Given the description of an element on the screen output the (x, y) to click on. 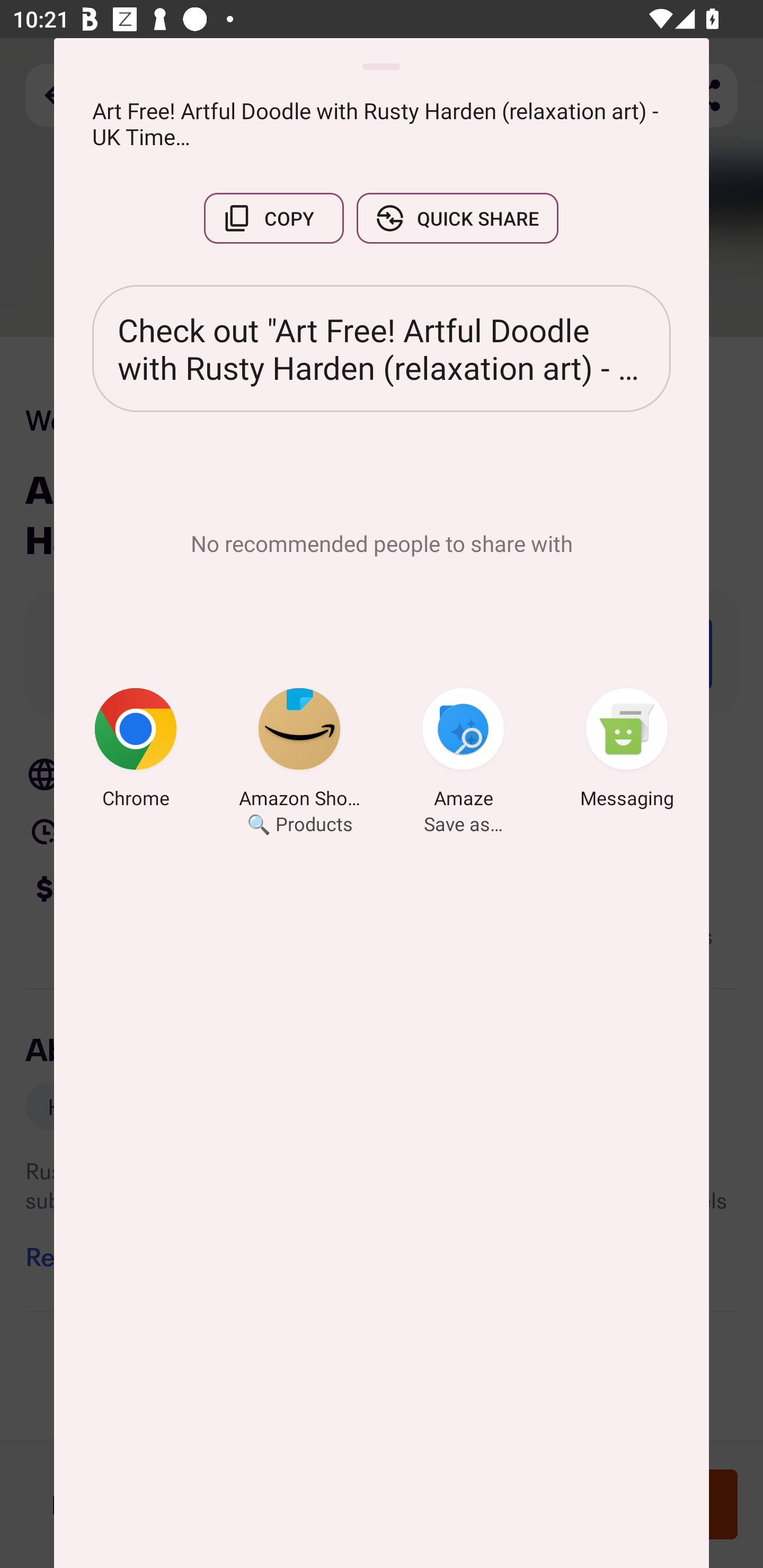
COPY (273, 218)
QUICK SHARE (457, 218)
Chrome (135, 751)
Amazon Shopping 🔍 Products (299, 751)
Amaze Save as… (463, 751)
Messaging (626, 751)
